Given the description of an element on the screen output the (x, y) to click on. 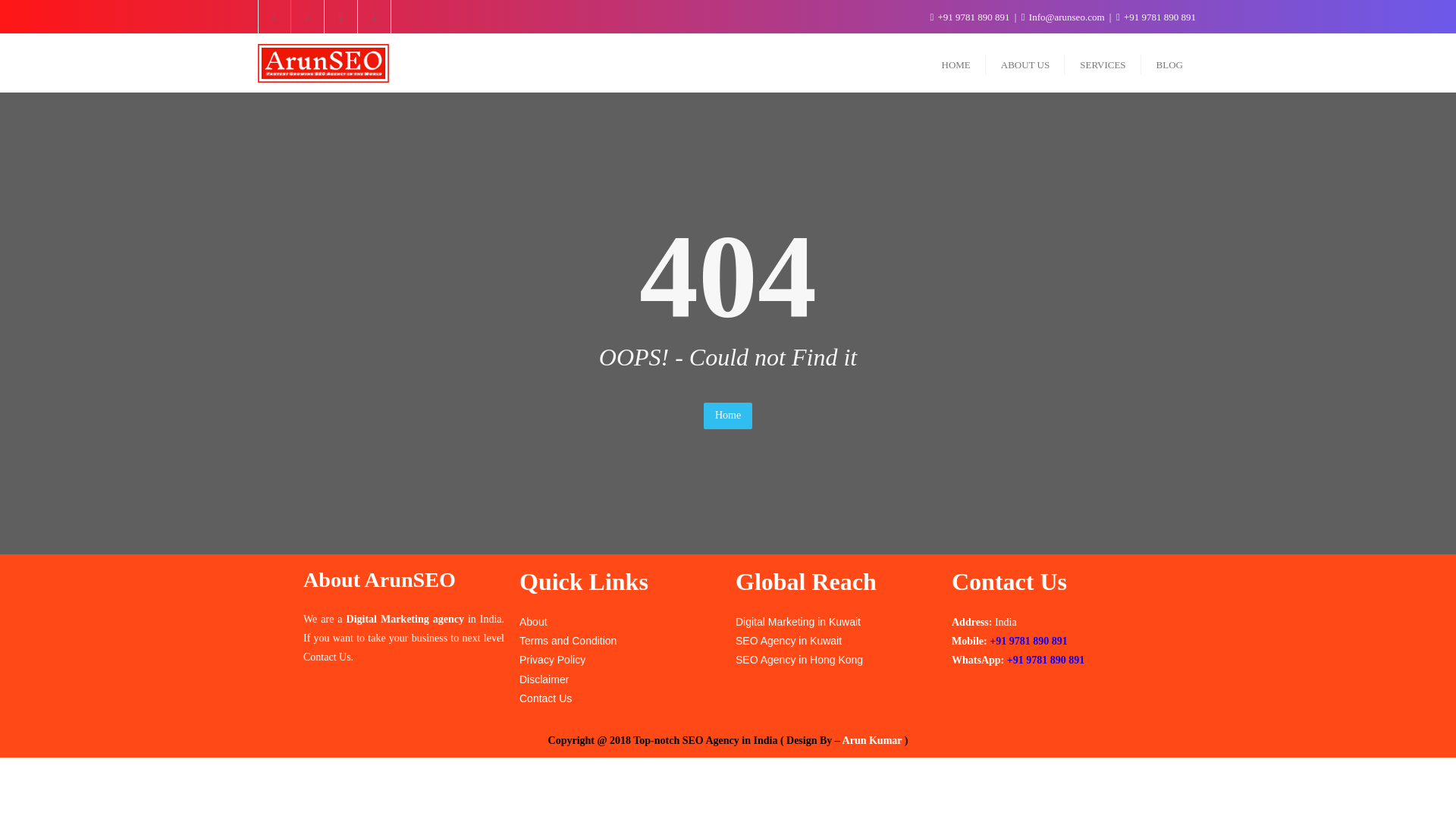
Digital Marketing agency (405, 618)
HOME (955, 63)
SERVICES (1102, 63)
ABOUT US (1024, 63)
Arun Kumar (872, 740)
BLOG (1169, 63)
Home (727, 415)
